Given the description of an element on the screen output the (x, y) to click on. 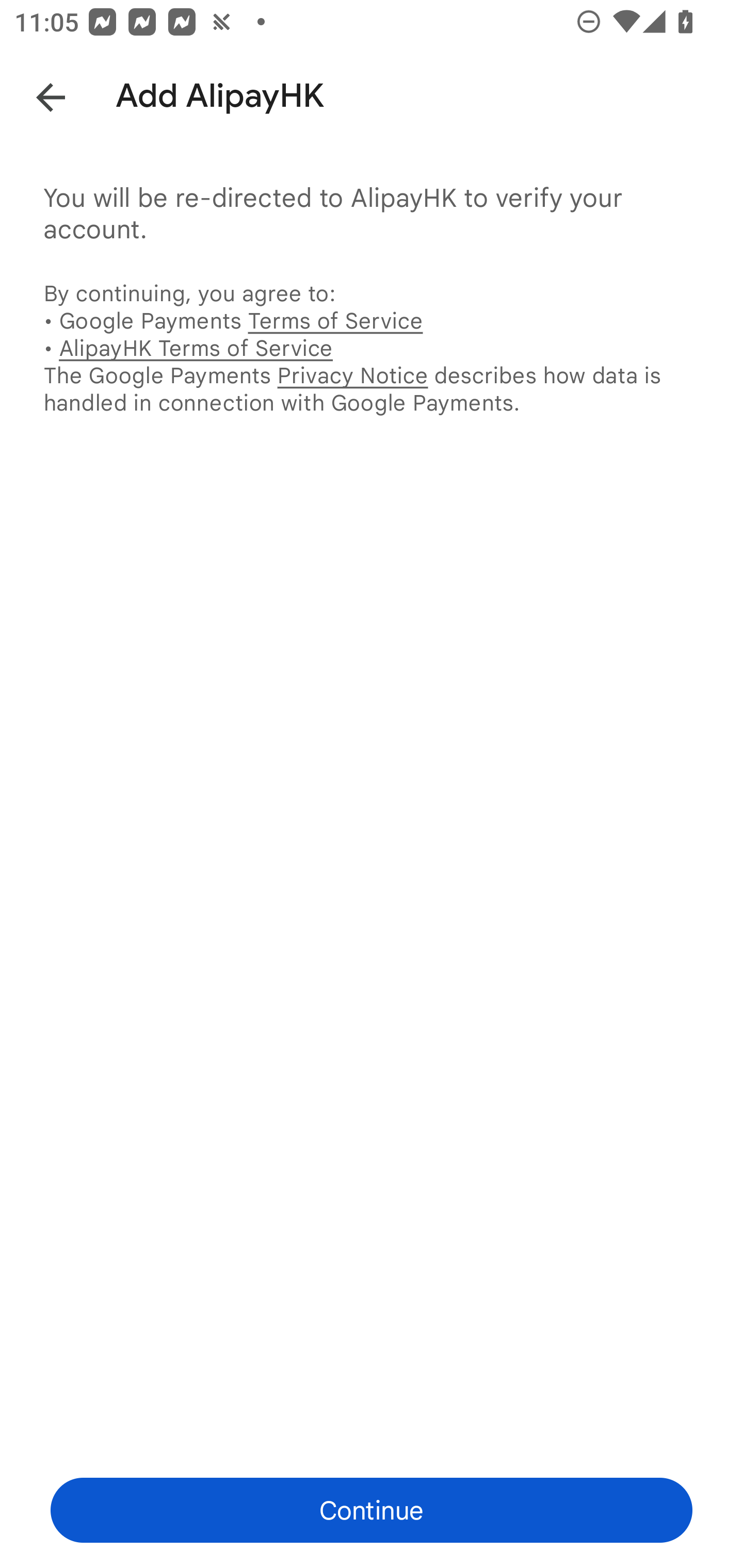
Back (36, 94)
Terms of Service (334, 320)
AlipayHK Terms of Service (195, 347)
Privacy Notice (352, 375)
Continue (371, 1510)
